Given the description of an element on the screen output the (x, y) to click on. 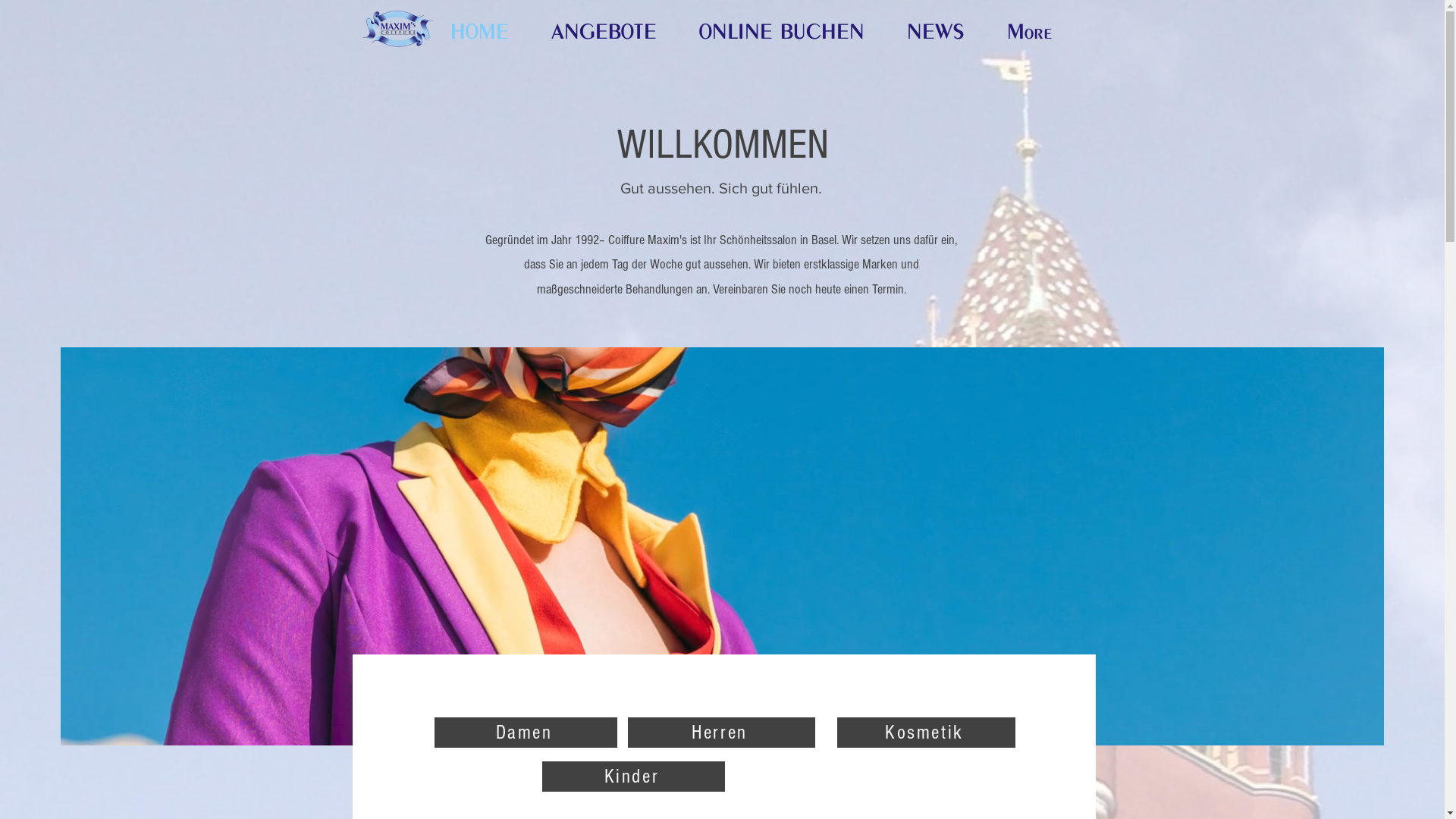
Kinder Element type: text (632, 776)
NEWS Element type: text (944, 28)
Damen Element type: text (524, 732)
Kosmetik Element type: text (926, 732)
Herren Element type: text (721, 732)
HOME Element type: text (488, 28)
ANGEBOTE Element type: text (613, 28)
ONLINE BUCHEN Element type: text (790, 28)
